Given the description of an element on the screen output the (x, y) to click on. 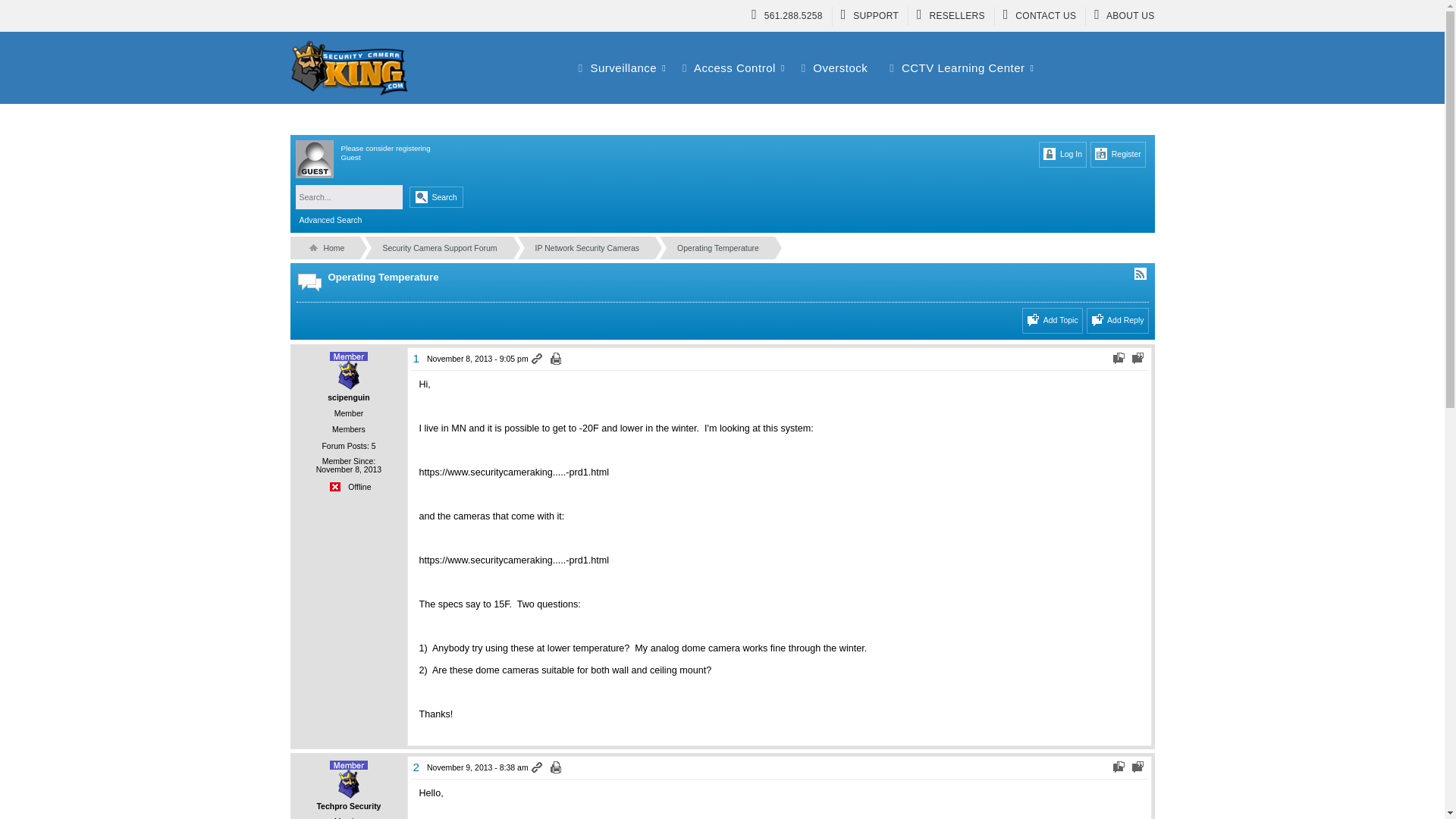
The post permalink (537, 767)
Subscribe to the RSS feed for this topic (1139, 272)
The post permalink (537, 359)
Search the forums (436, 197)
Report this post to admin (1118, 359)
Print this post (557, 767)
Log in and log out (1062, 154)
Quote this post (1138, 359)
Add a new post in this topic (1117, 320)
Quote this post (1138, 767)
